Given the description of an element on the screen output the (x, y) to click on. 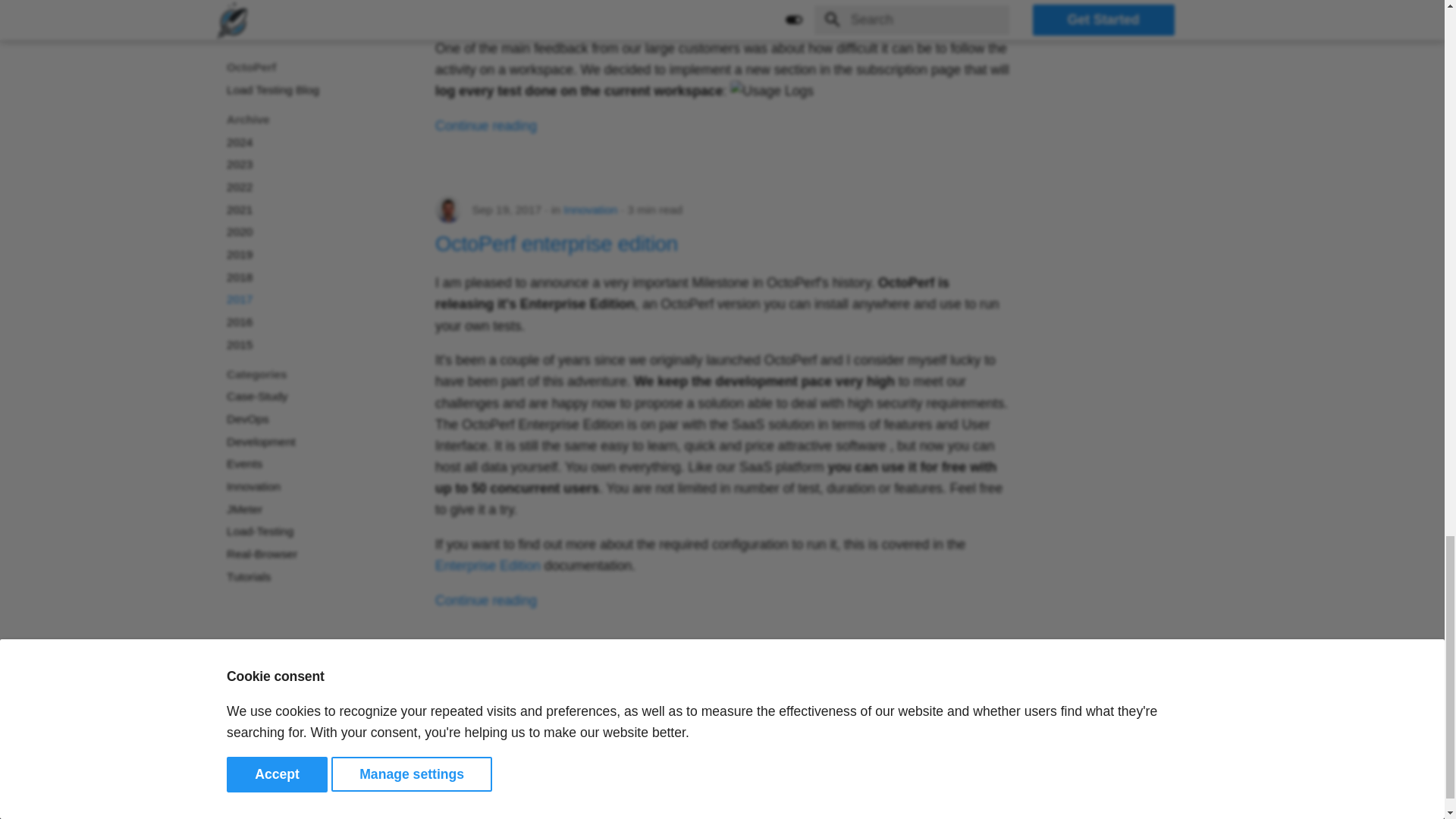
OctoPerf on Linked'In (1117, 811)
OctoPerf RSS (1207, 811)
Enterprise edition (487, 565)
OctoPerf on Youtube (1177, 811)
OctoPerf on Github (1147, 811)
